Given the description of an element on the screen output the (x, y) to click on. 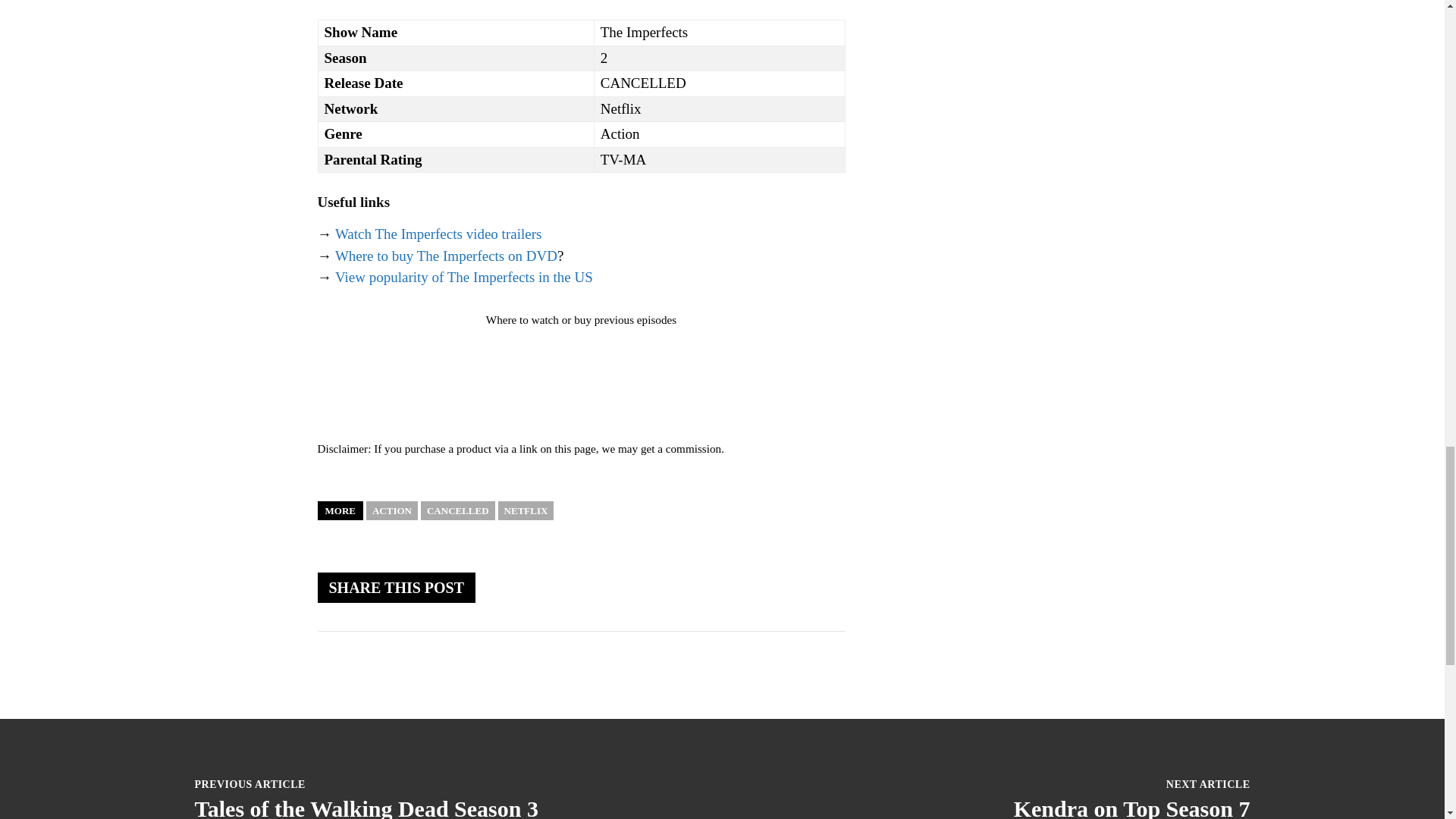
View popularity of The Imperfects in the US (463, 277)
ACTION (391, 510)
Where to buy The Imperfects on DVD (445, 255)
CANCELLED (457, 510)
NETFLIX (525, 510)
Watch The Imperfects video trailers (437, 233)
